Given the description of an element on the screen output the (x, y) to click on. 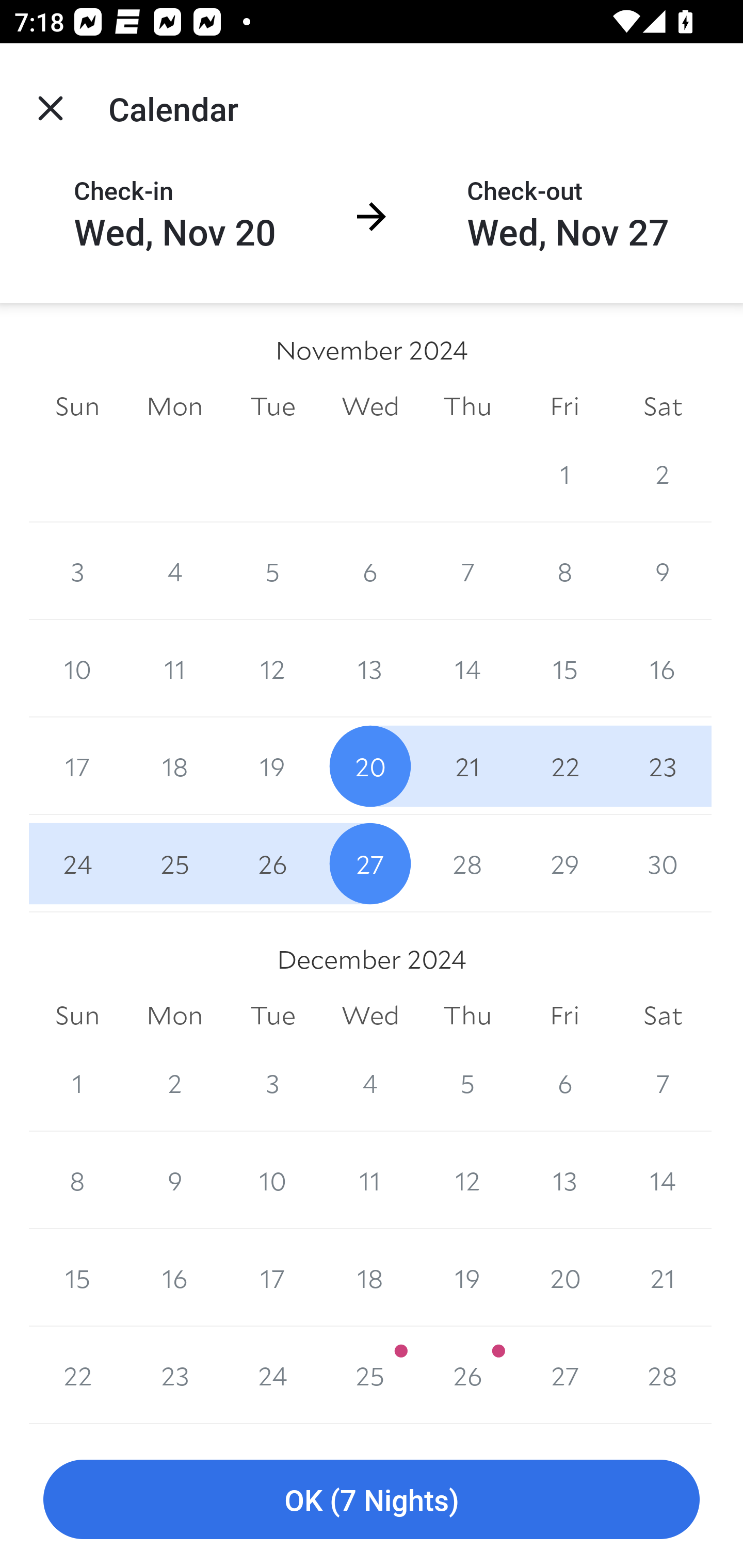
Sun (77, 405)
Mon (174, 405)
Tue (272, 405)
Wed (370, 405)
Thu (467, 405)
Fri (564, 405)
Sat (662, 405)
1 1 November 2024 (564, 473)
2 2 November 2024 (662, 473)
3 3 November 2024 (77, 570)
4 4 November 2024 (174, 570)
5 5 November 2024 (272, 570)
6 6 November 2024 (370, 570)
7 7 November 2024 (467, 570)
8 8 November 2024 (564, 570)
9 9 November 2024 (662, 570)
10 10 November 2024 (77, 668)
11 11 November 2024 (174, 668)
12 12 November 2024 (272, 668)
13 13 November 2024 (370, 668)
14 14 November 2024 (467, 668)
15 15 November 2024 (564, 668)
16 16 November 2024 (662, 668)
17 17 November 2024 (77, 766)
18 18 November 2024 (174, 766)
19 19 November 2024 (272, 766)
20 20 November 2024 (370, 766)
21 21 November 2024 (467, 766)
22 22 November 2024 (564, 766)
23 23 November 2024 (662, 766)
24 24 November 2024 (77, 863)
25 25 November 2024 (174, 863)
26 26 November 2024 (272, 863)
27 27 November 2024 (370, 863)
28 28 November 2024 (467, 863)
29 29 November 2024 (564, 863)
30 30 November 2024 (662, 863)
Sun (77, 1015)
Mon (174, 1015)
Tue (272, 1015)
Wed (370, 1015)
Thu (467, 1015)
Fri (564, 1015)
Sat (662, 1015)
1 1 December 2024 (77, 1083)
2 2 December 2024 (174, 1083)
3 3 December 2024 (272, 1083)
4 4 December 2024 (370, 1083)
5 5 December 2024 (467, 1083)
